Given the description of an element on the screen output the (x, y) to click on. 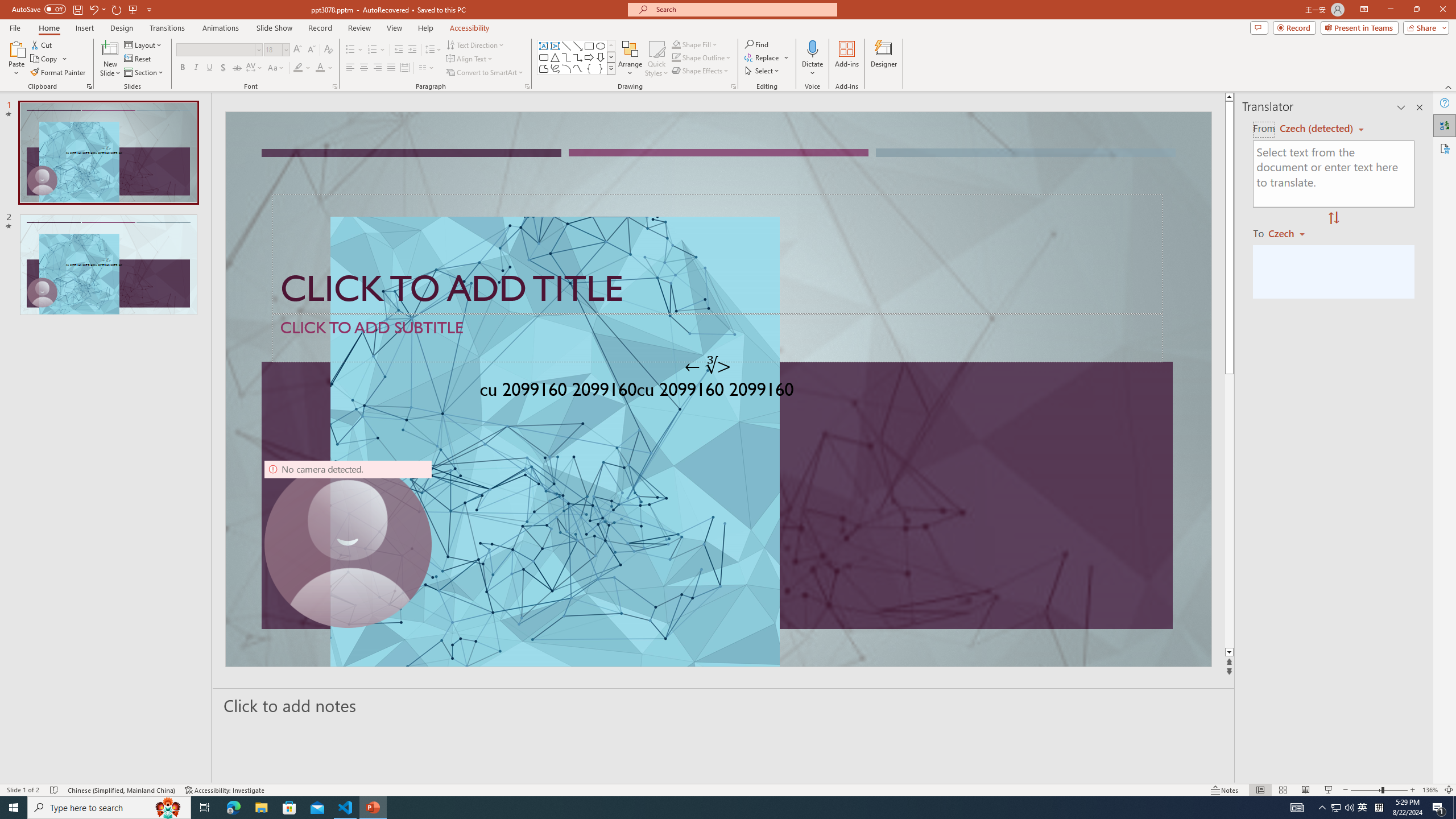
Font Size (276, 49)
Paste (16, 48)
Accessibility (1444, 147)
Shape Fill Dark Green, Accent 2 (675, 44)
Line down (1229, 652)
Cut (42, 44)
Numbering (372, 49)
Notes  (1225, 790)
Columns (426, 67)
Underline (209, 67)
